Given the description of an element on the screen output the (x, y) to click on. 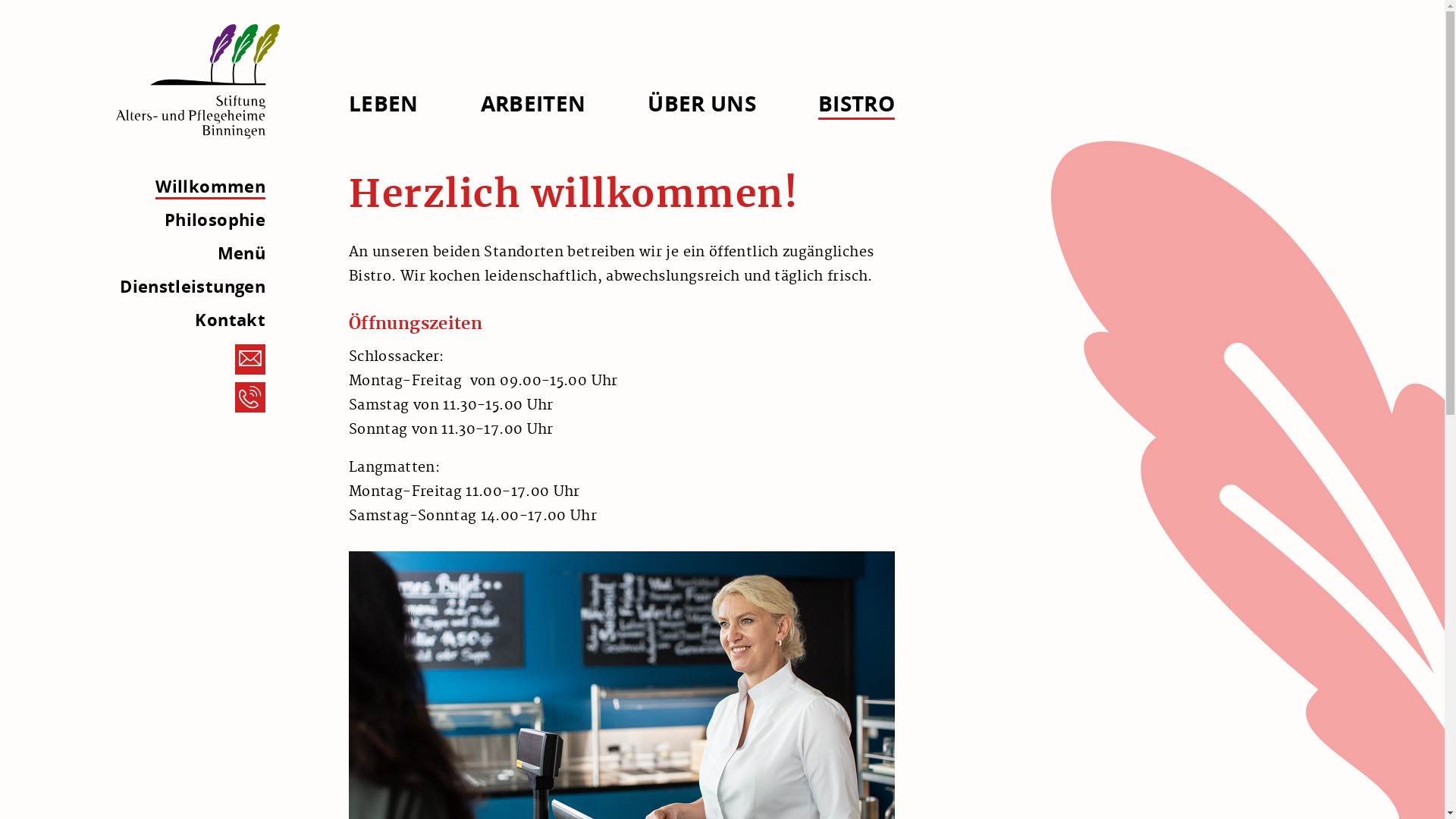
Dienstleistungen Element type: text (192, 285)
Philosophie Element type: text (214, 218)
  Element type: text (196, 83)
BISTRO Element type: text (856, 103)
Kontakt Element type: text (229, 318)
LEBEN Element type: text (383, 102)
Willkommen Element type: text (210, 186)
ARBEITEN Element type: text (533, 102)
